Given the description of an element on the screen output the (x, y) to click on. 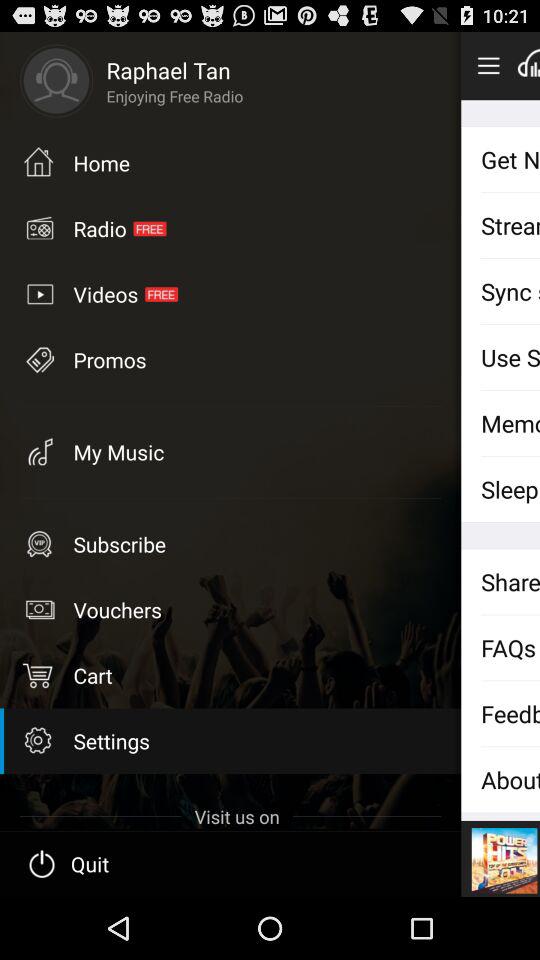
speaker (528, 65)
